Given the description of an element on the screen output the (x, y) to click on. 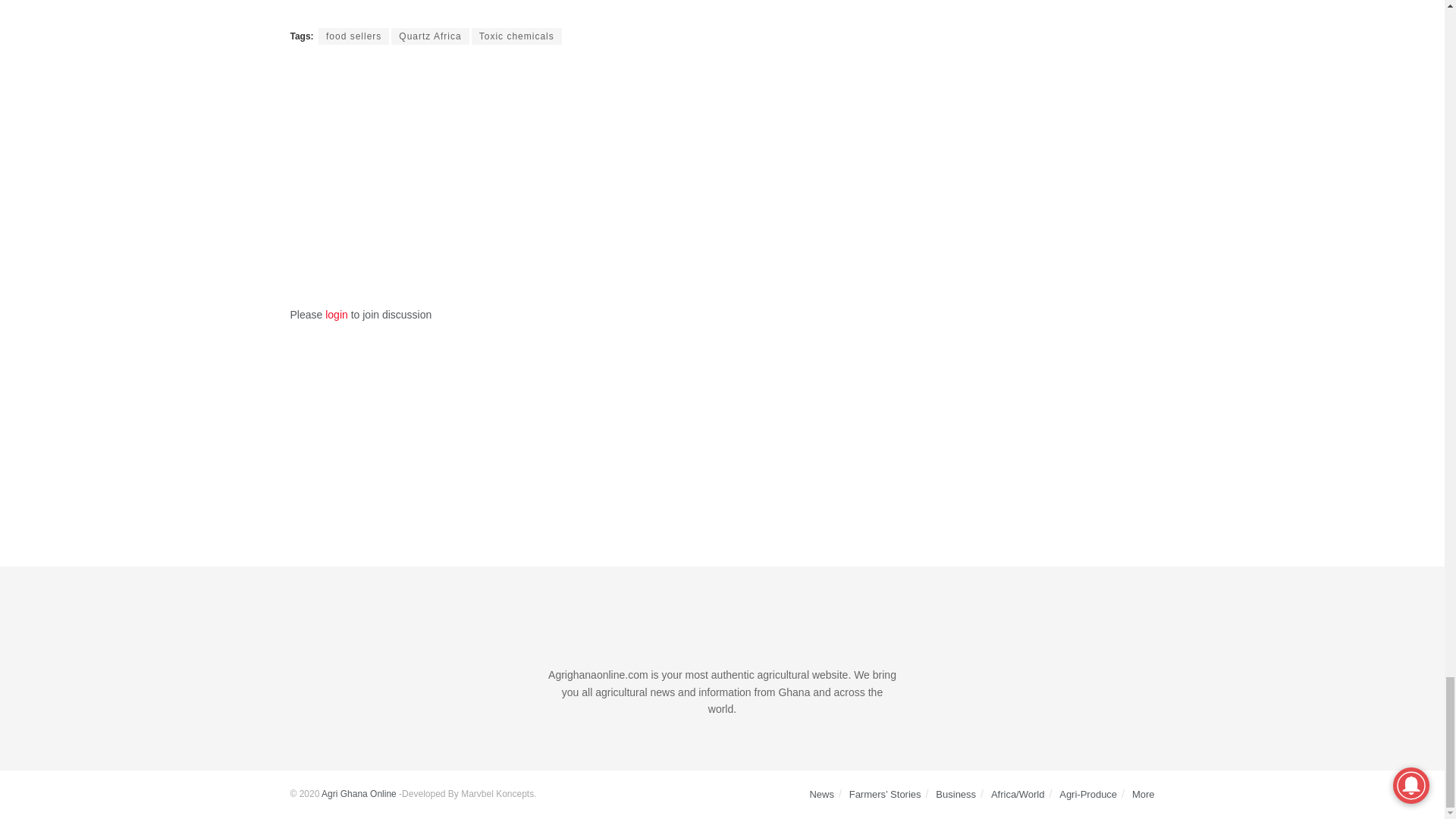
Agri Ghana Online (358, 793)
